Given the description of an element on the screen output the (x, y) to click on. 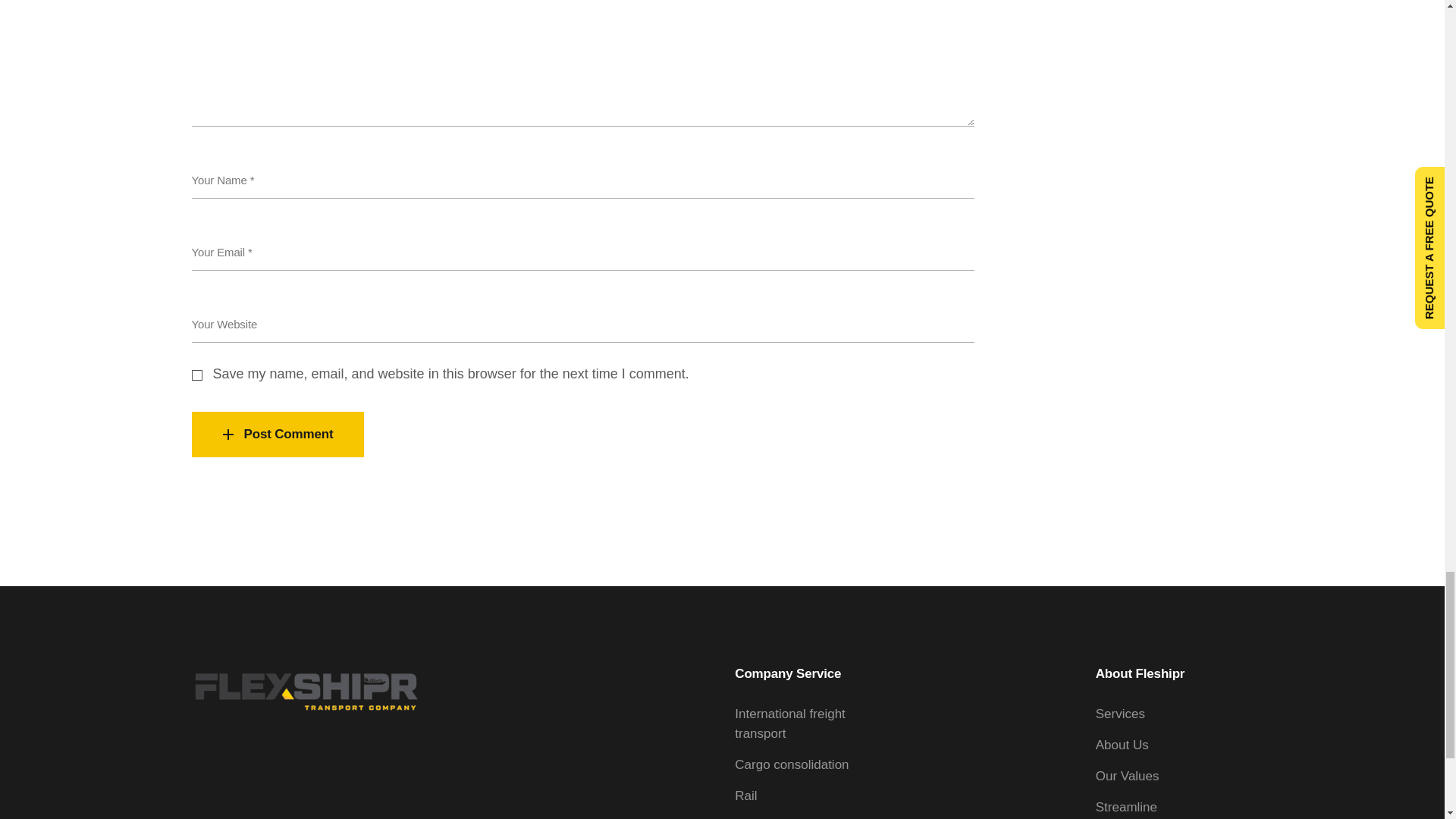
yes (196, 375)
